Given the description of an element on the screen output the (x, y) to click on. 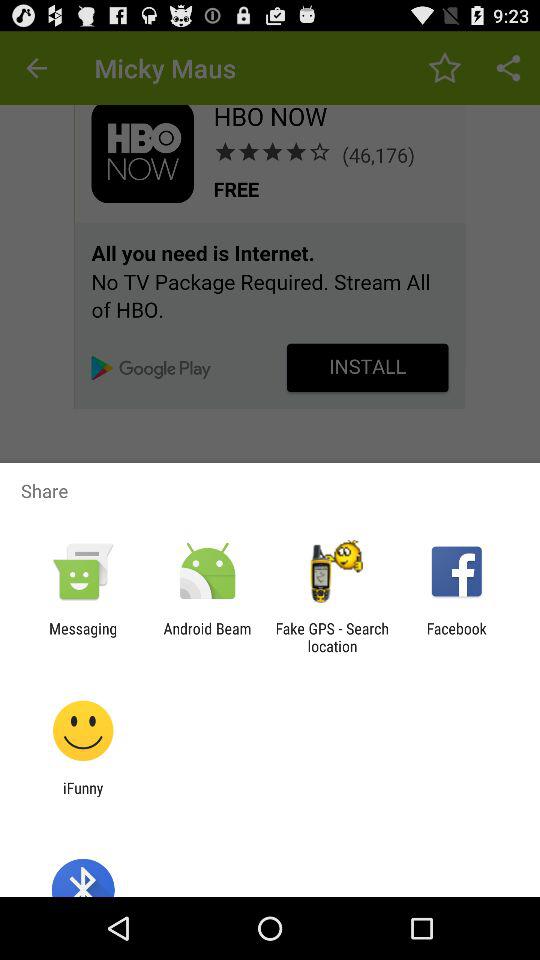
select the ifunny (83, 796)
